Given the description of an element on the screen output the (x, y) to click on. 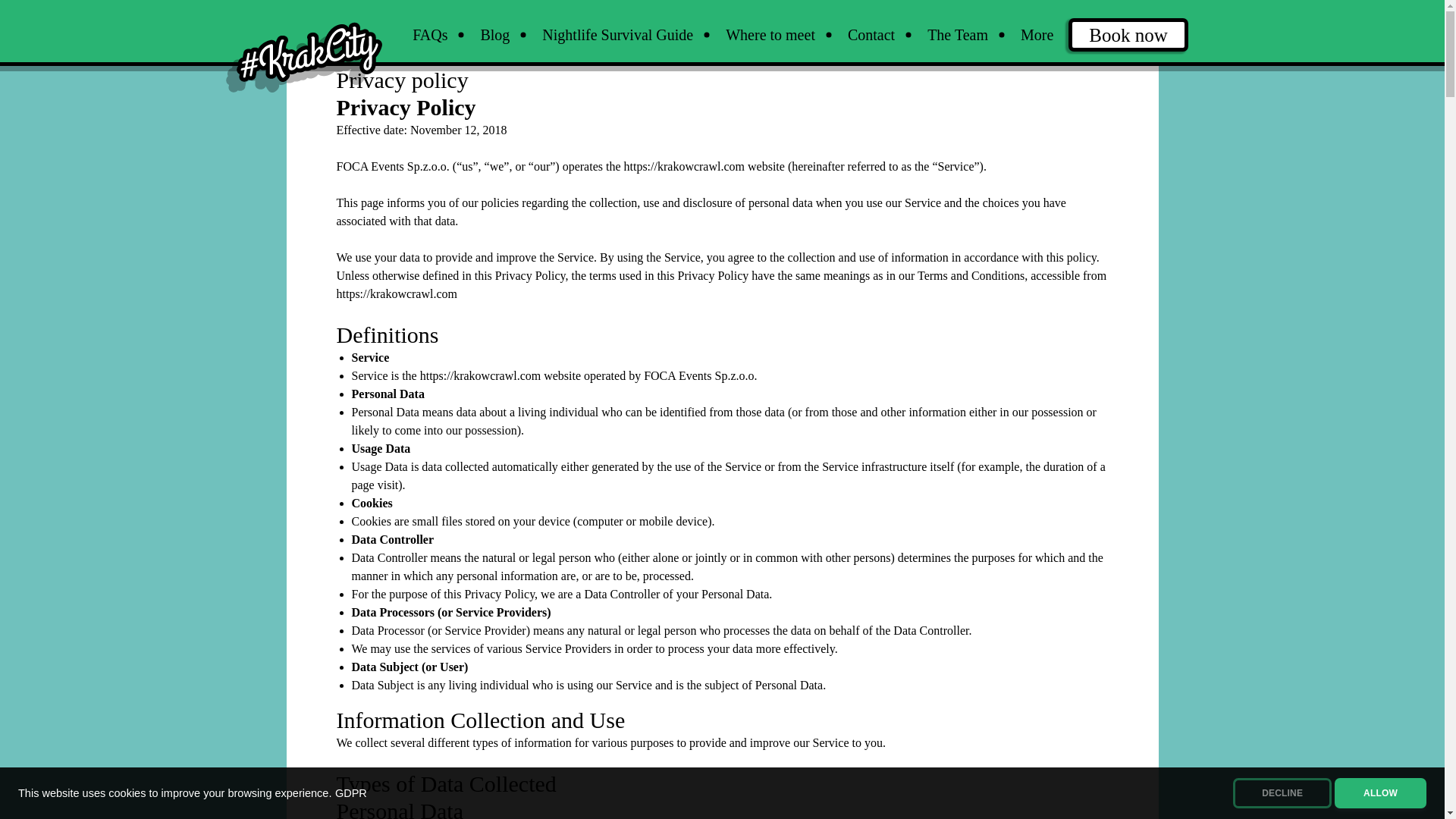
ALLOW (1380, 793)
DECLINE (1282, 793)
Contact (871, 34)
Blog (494, 34)
More (1036, 34)
FAQs (429, 34)
GDPR (350, 793)
Book now (1128, 34)
Nightlife Survival Guide (617, 34)
The Team (957, 34)
Where to meet (770, 34)
